Given the description of an element on the screen output the (x, y) to click on. 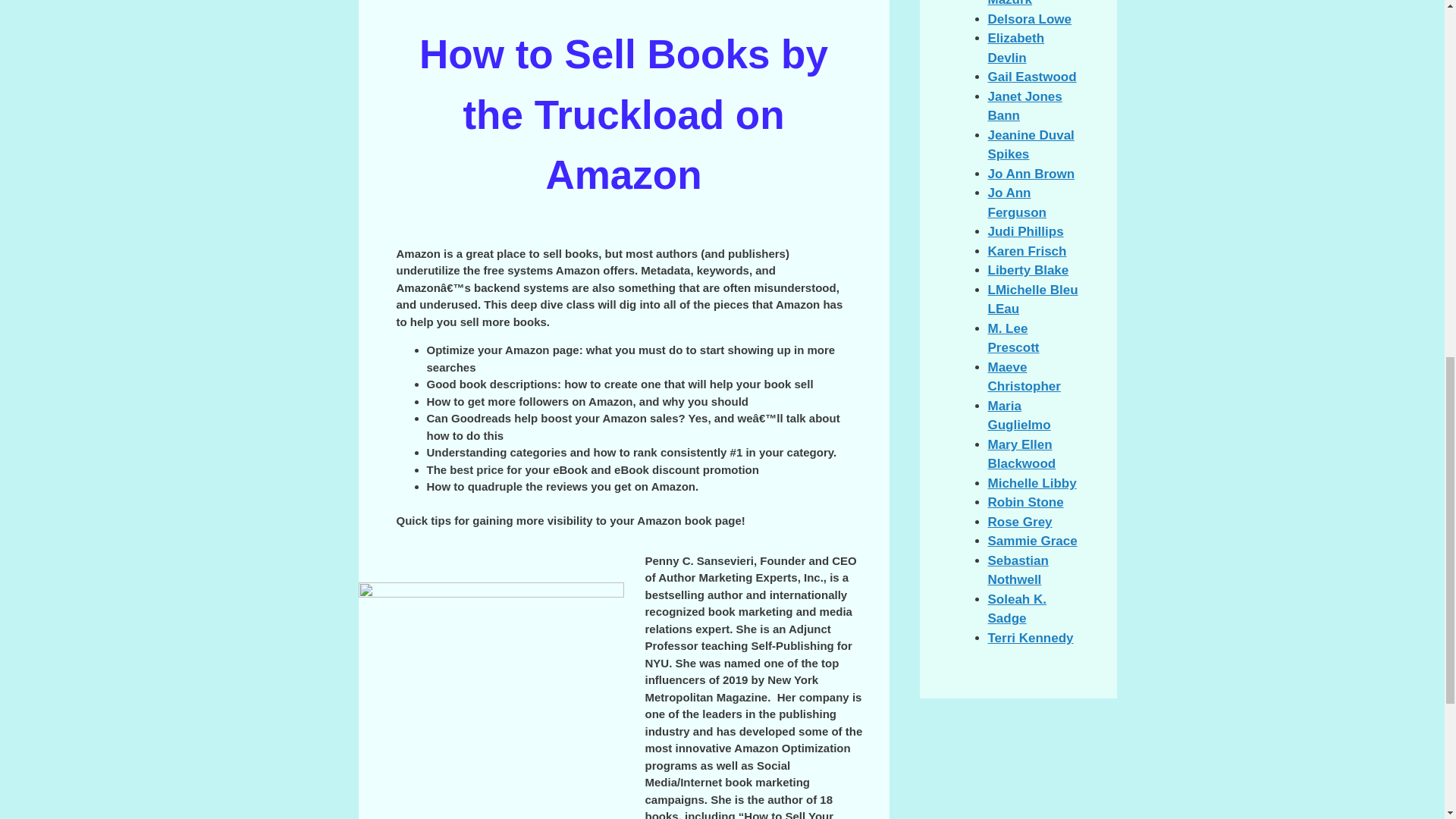
Deb Noone (1029, 19)
Christine Mazurk (1015, 3)
Gail Eastwood (1031, 76)
Karen Frisch (1026, 251)
Joanne Smart (1032, 540)
Delsora Lowe (1029, 19)
Liberty Blake (1027, 269)
Rose Grey (1019, 522)
Jo Ann Brown (1030, 173)
M. Lee Prescott (1013, 338)
